Given the description of an element on the screen output the (x, y) to click on. 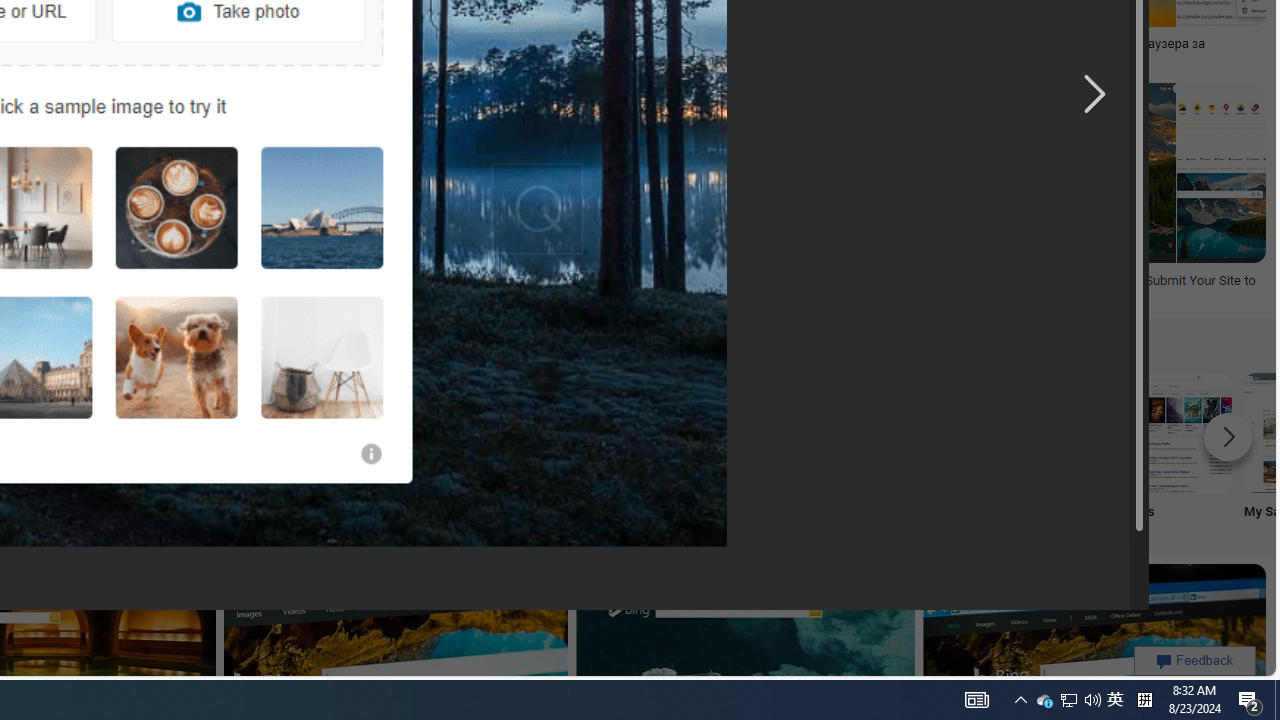
Top 10 Search engine | REALITYPOD - Part 3 (347, 44)
Bing Movies Search (1171, 432)
Bing Random Search Random (116, 450)
Bing Search Tricks (1039, 432)
Random (116, 450)
Bing Can Now Search for Any Object in an Image (710, 44)
Bing Search Settings (907, 432)
Image result for Bing Search Site (717, 172)
